Given the description of an element on the screen output the (x, y) to click on. 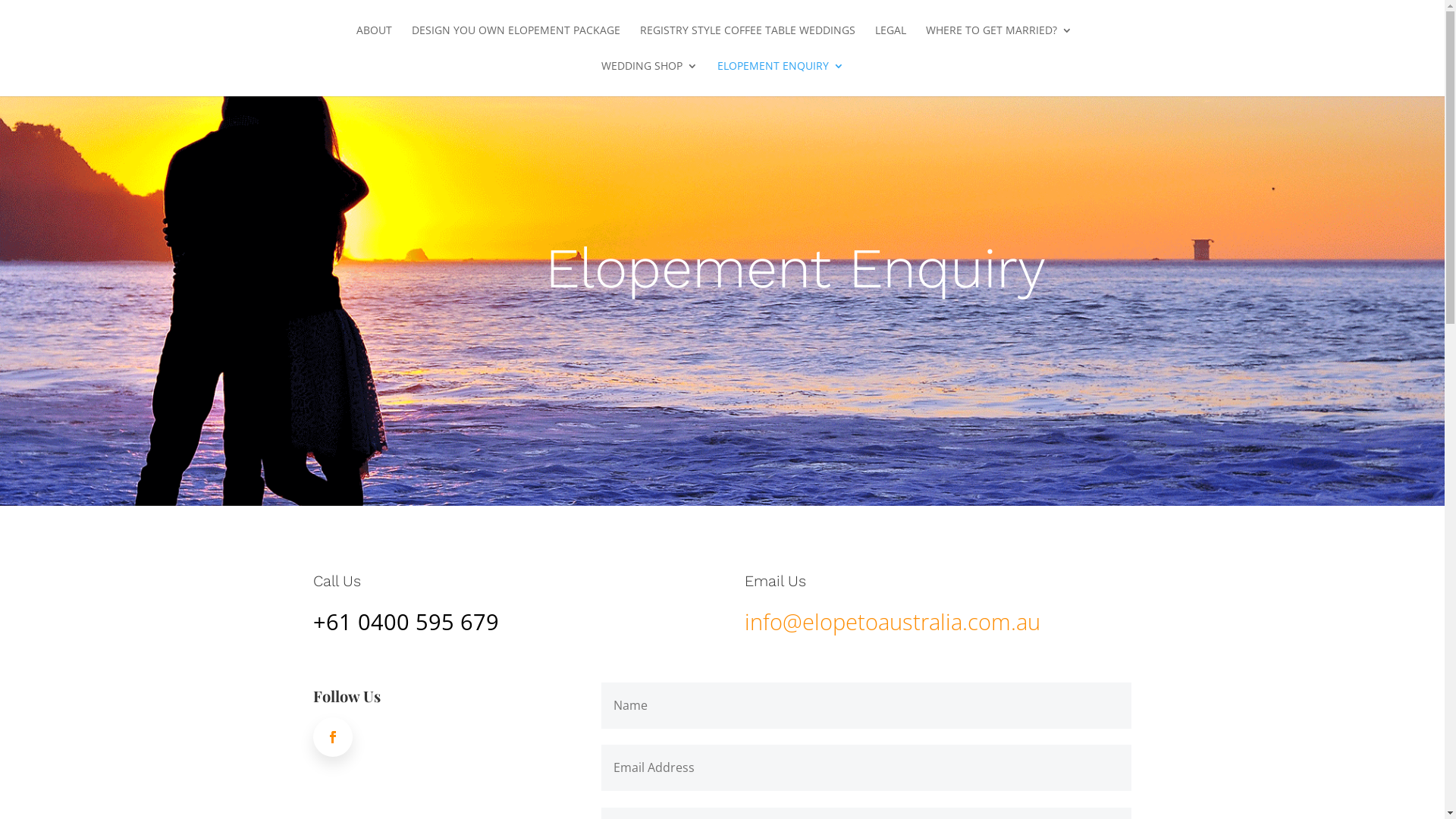
WHERE TO GET MARRIED? Element type: text (998, 42)
REGISTRY STYLE COFFEE TABLE WEDDINGS Element type: text (747, 42)
+61 0400 595 679 Element type: text (405, 621)
WEDDING SHOP Element type: text (648, 78)
ABOUT Element type: text (374, 42)
Follow on Facebook Element type: hover (331, 736)
ELOPEMENT ENQUIRY Element type: text (780, 78)
LEGAL Element type: text (890, 42)
info@elopetoaustralia.com.au Element type: text (892, 621)
DESIGN YOU OWN ELOPEMENT PACKAGE Element type: text (515, 42)
